Given the description of an element on the screen output the (x, y) to click on. 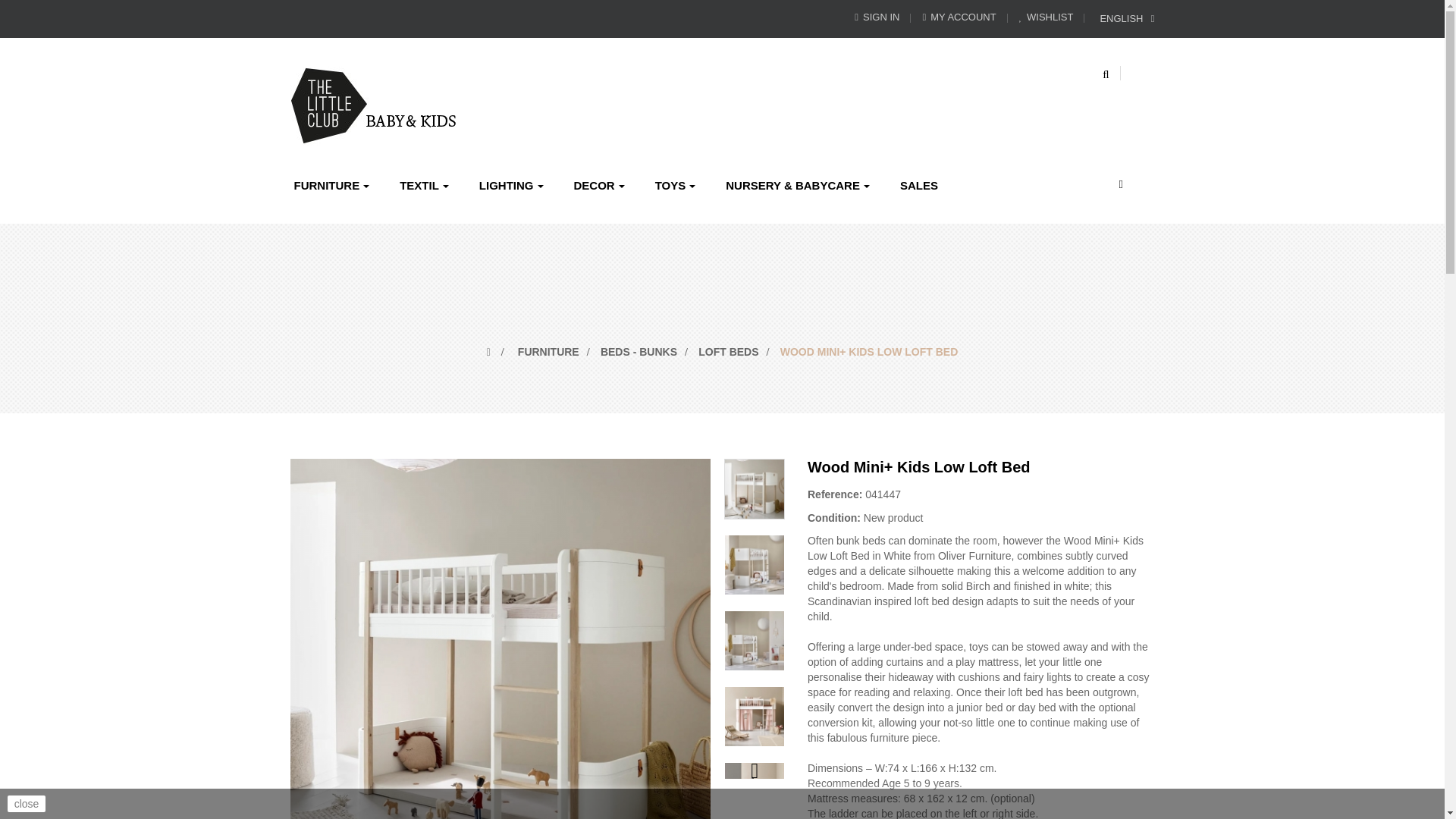
MY ACCOUNT (958, 16)
WISHLIST (1046, 16)
TEXTIL (424, 185)
Login to your customer account (876, 16)
SIGN IN (876, 16)
My wishlists (1046, 16)
My account (958, 16)
FURNITURE (332, 185)
